Given the description of an element on the screen output the (x, y) to click on. 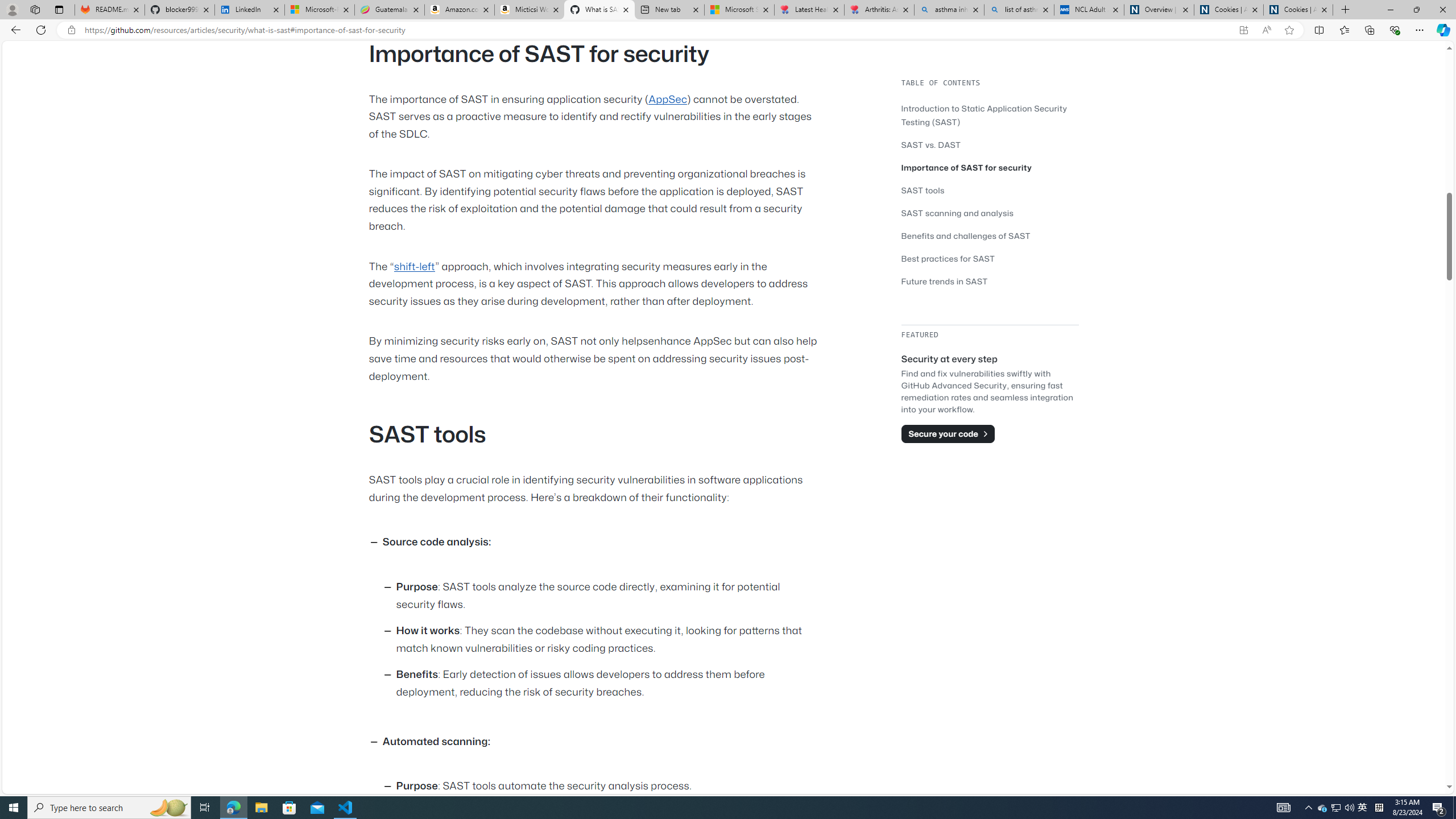
Introduction to Static Application Security Testing (SAST) (989, 115)
Benefits and challenges of SAST (965, 235)
Introduction to Static Application Security Testing (SAST) (984, 114)
